Given the description of an element on the screen output the (x, y) to click on. 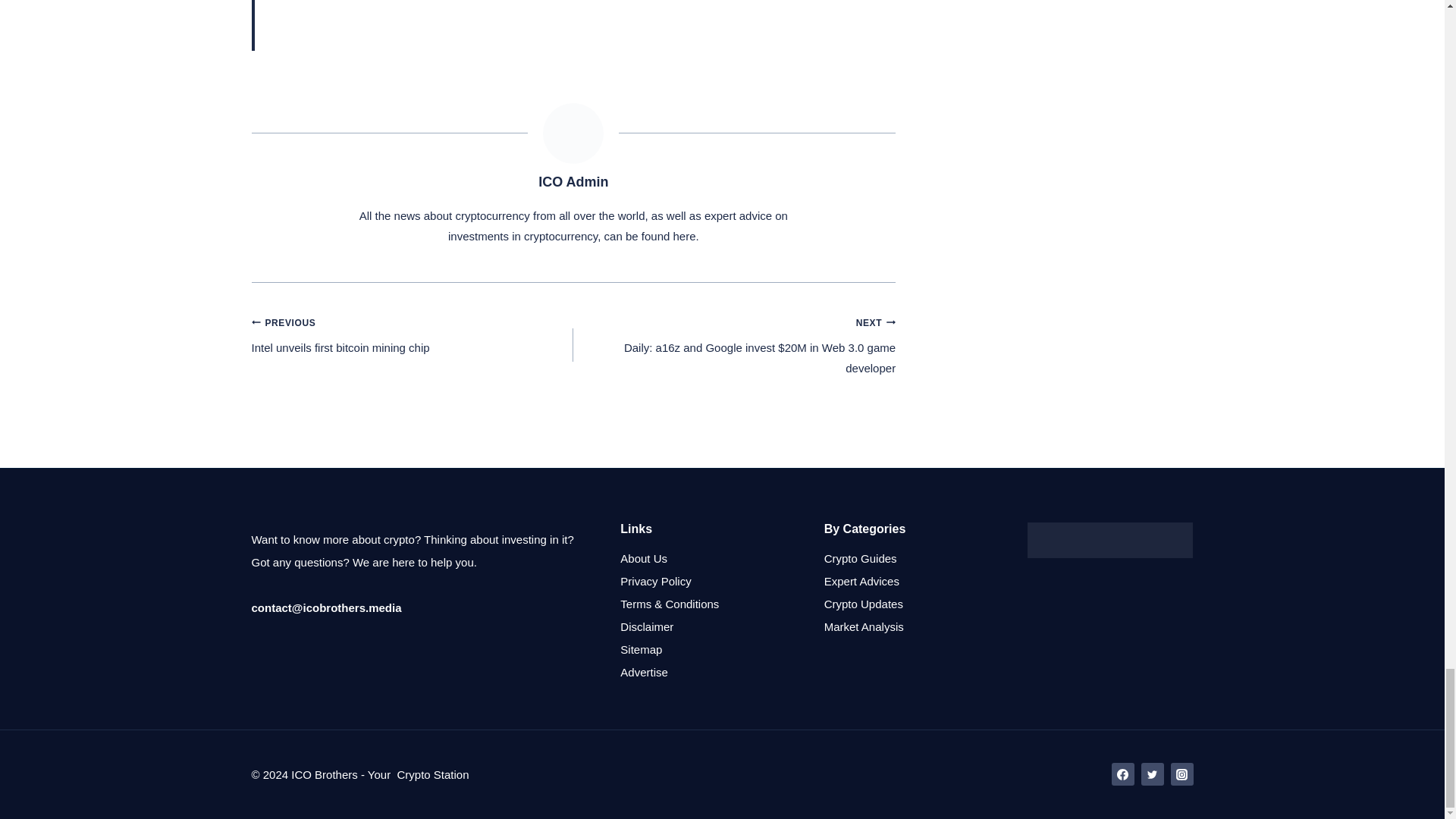
ICO Admin (412, 335)
Posts by ICO Admin (573, 181)
Privacy Policy (573, 181)
About Us (703, 581)
